Given the description of an element on the screen output the (x, y) to click on. 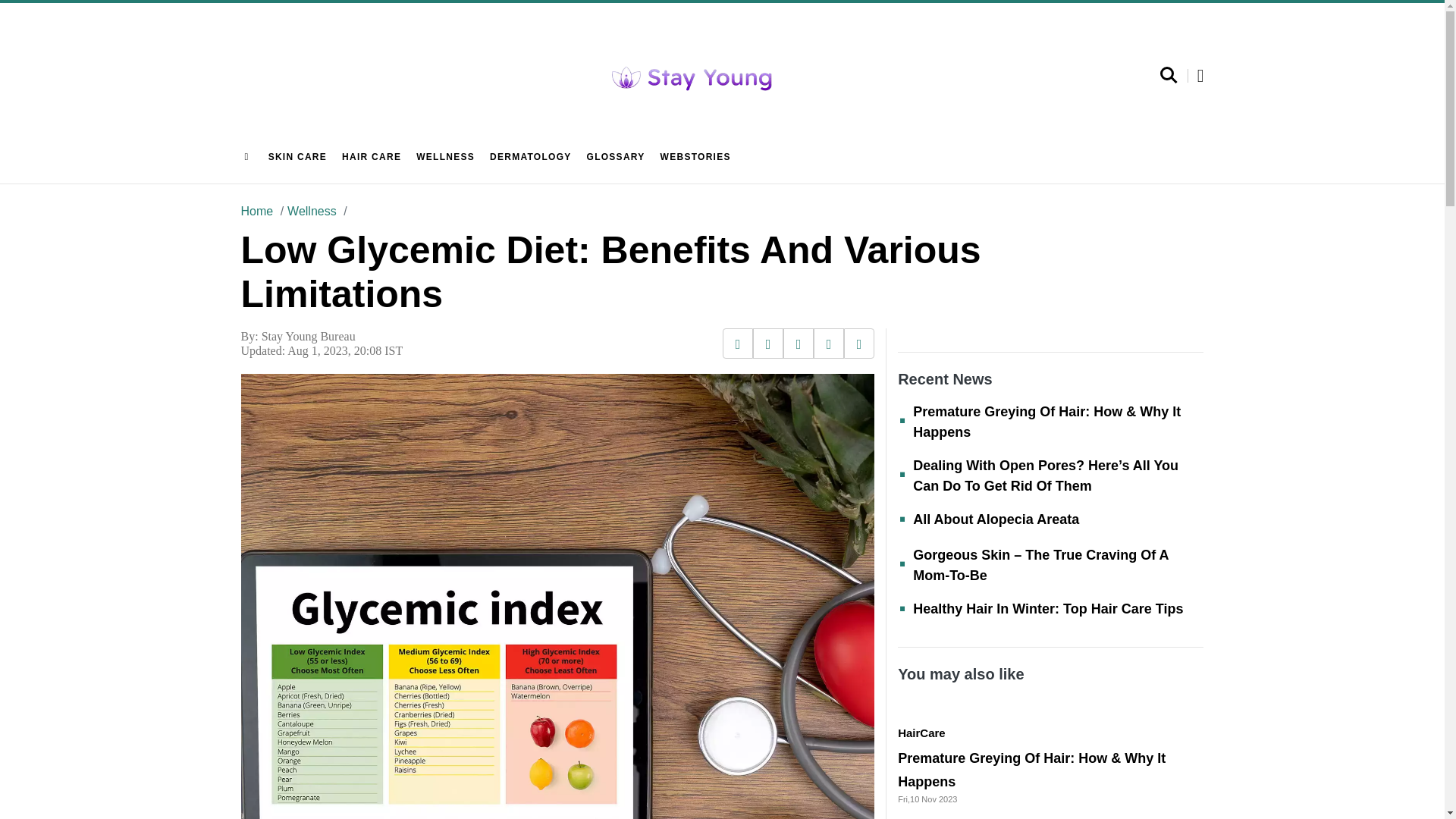
WEBSTORIES (695, 157)
HOME (249, 157)
Stay Young Bureau (308, 336)
DERMATOLOGY (530, 157)
SKIN CARE (297, 157)
HAIR CARE (370, 157)
WELLNESS (445, 157)
Home (257, 210)
Wellness (308, 210)
GLOSSARY (616, 157)
